Given the description of an element on the screen output the (x, y) to click on. 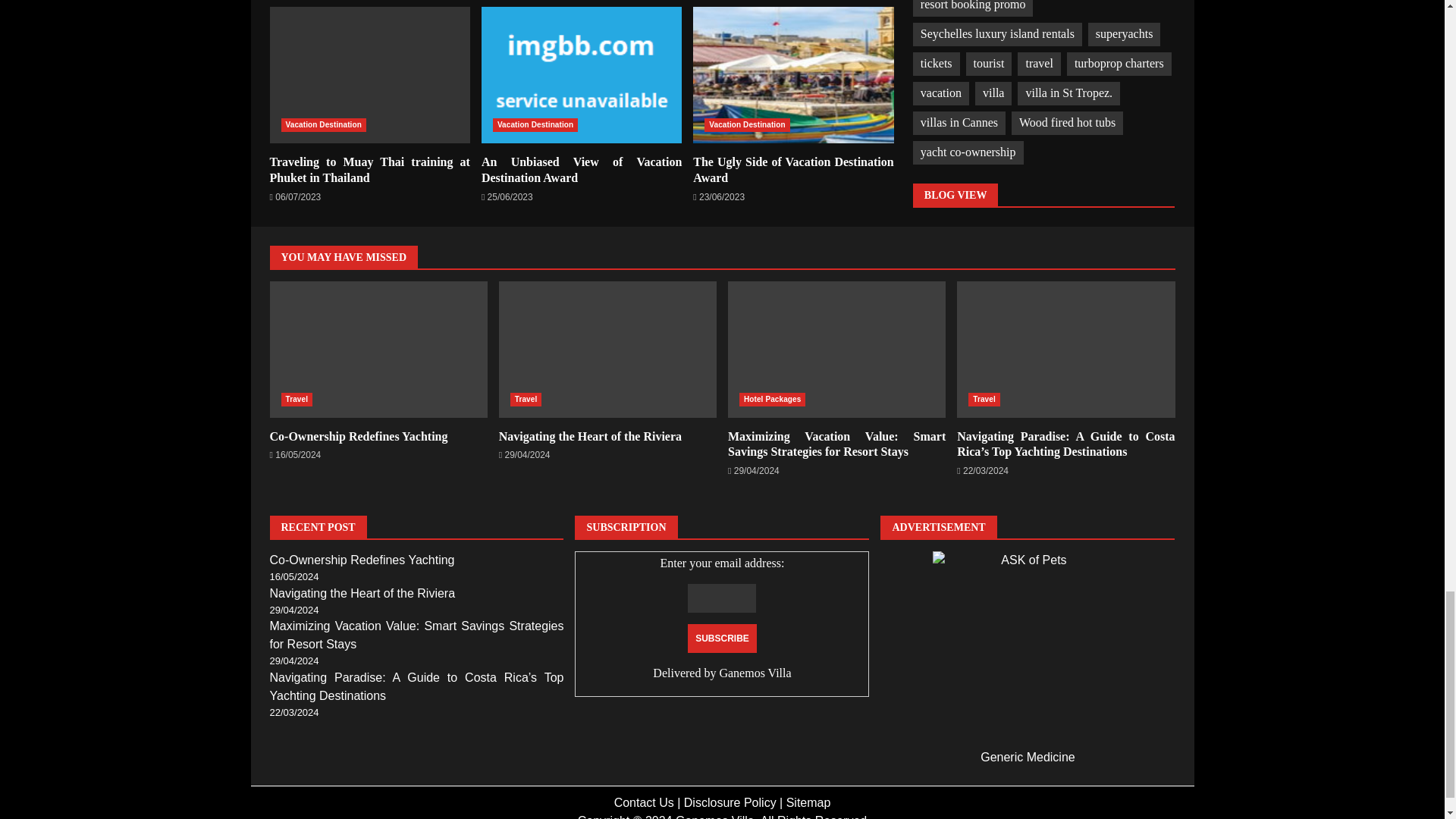
Traveling to Muay Thai training at Phuket in Thailand (369, 74)
Vacation Destination (323, 124)
Subscribe (722, 638)
The Ugly Side of Vacation Destination Award (793, 74)
Vacation Destination (746, 124)
The Ugly Side of Vacation Destination Award (793, 169)
Traveling to Muay Thai training at Phuket in Thailand (369, 74)
An Unbiased View of Vacation Destination Award (581, 74)
An Unbiased View of Vacation Destination Award (581, 74)
Vacation Destination (535, 124)
An Unbiased View of Vacation Destination Award (581, 169)
The Ugly Side of Vacation Destination Award (793, 74)
Traveling to Muay Thai training at Phuket in Thailand (369, 169)
